Given the description of an element on the screen output the (x, y) to click on. 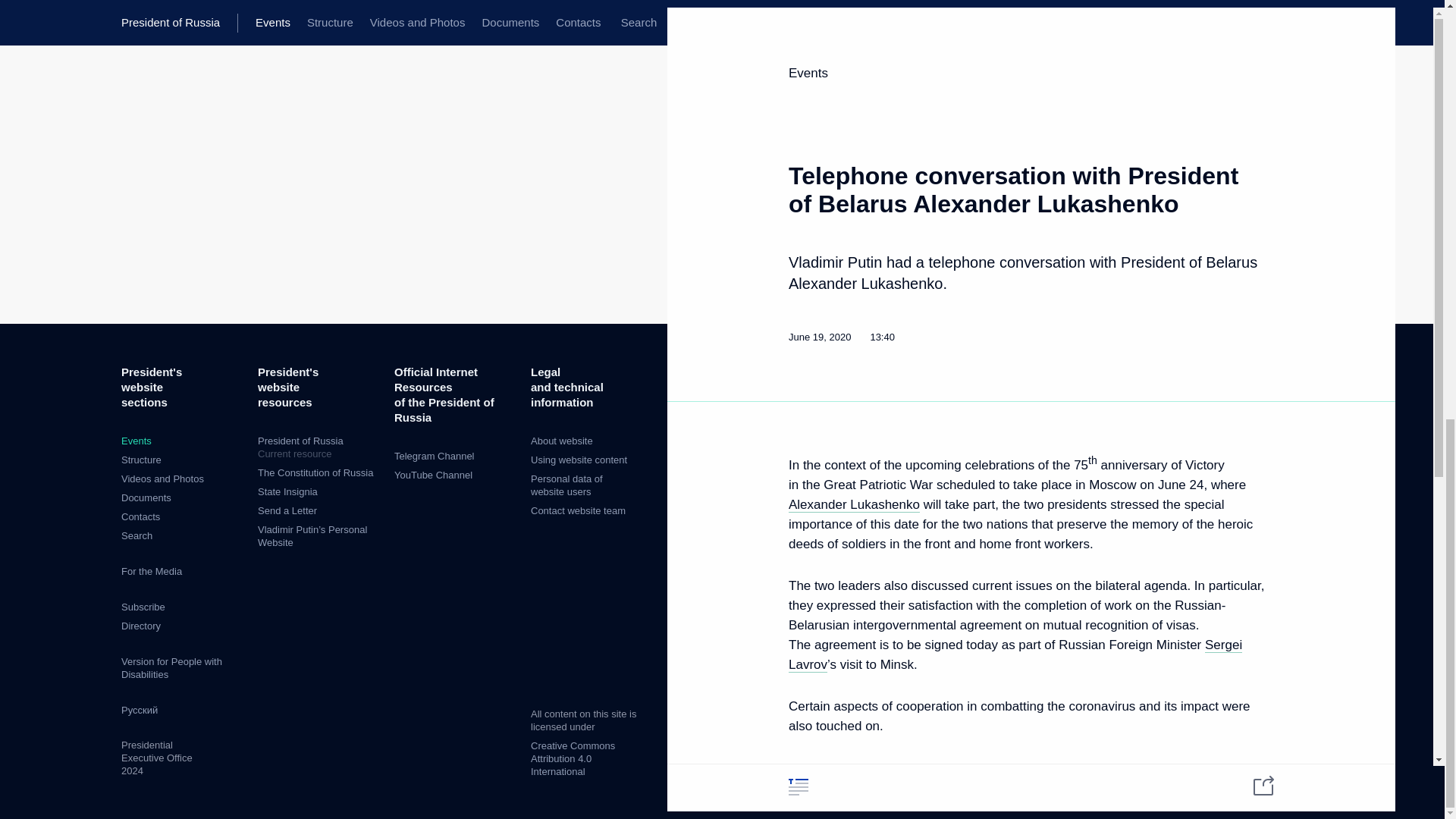
About website (561, 440)
Contacts (140, 516)
Send a Letter (287, 510)
For the Media (151, 571)
State Insignia (287, 491)
Search (317, 447)
The Constitution of Russia (136, 535)
Videos and Photos (314, 472)
Documents (161, 478)
